Given the description of an element on the screen output the (x, y) to click on. 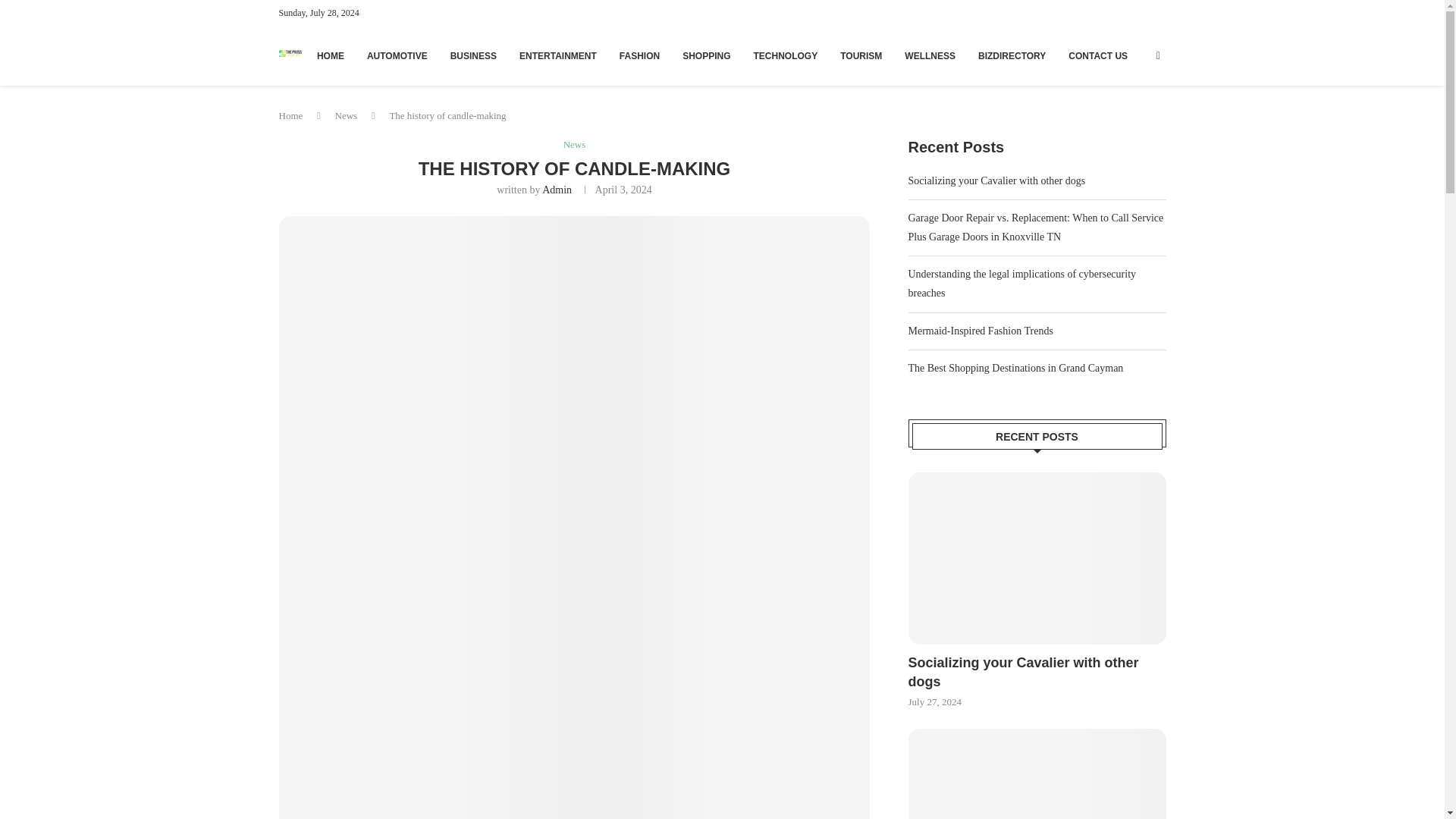
WELLNESS (929, 55)
CONTACT US (1097, 55)
HOME (330, 55)
TOURISM (861, 55)
TECHNOLOGY (786, 55)
BIZDIRECTORY (1011, 55)
BUSINESS (472, 55)
ENTERTAINMENT (557, 55)
FASHION (639, 55)
Search (1117, 84)
SHOPPING (706, 55)
AUTOMOTIVE (397, 55)
Search (1117, 7)
